Given the description of an element on the screen output the (x, y) to click on. 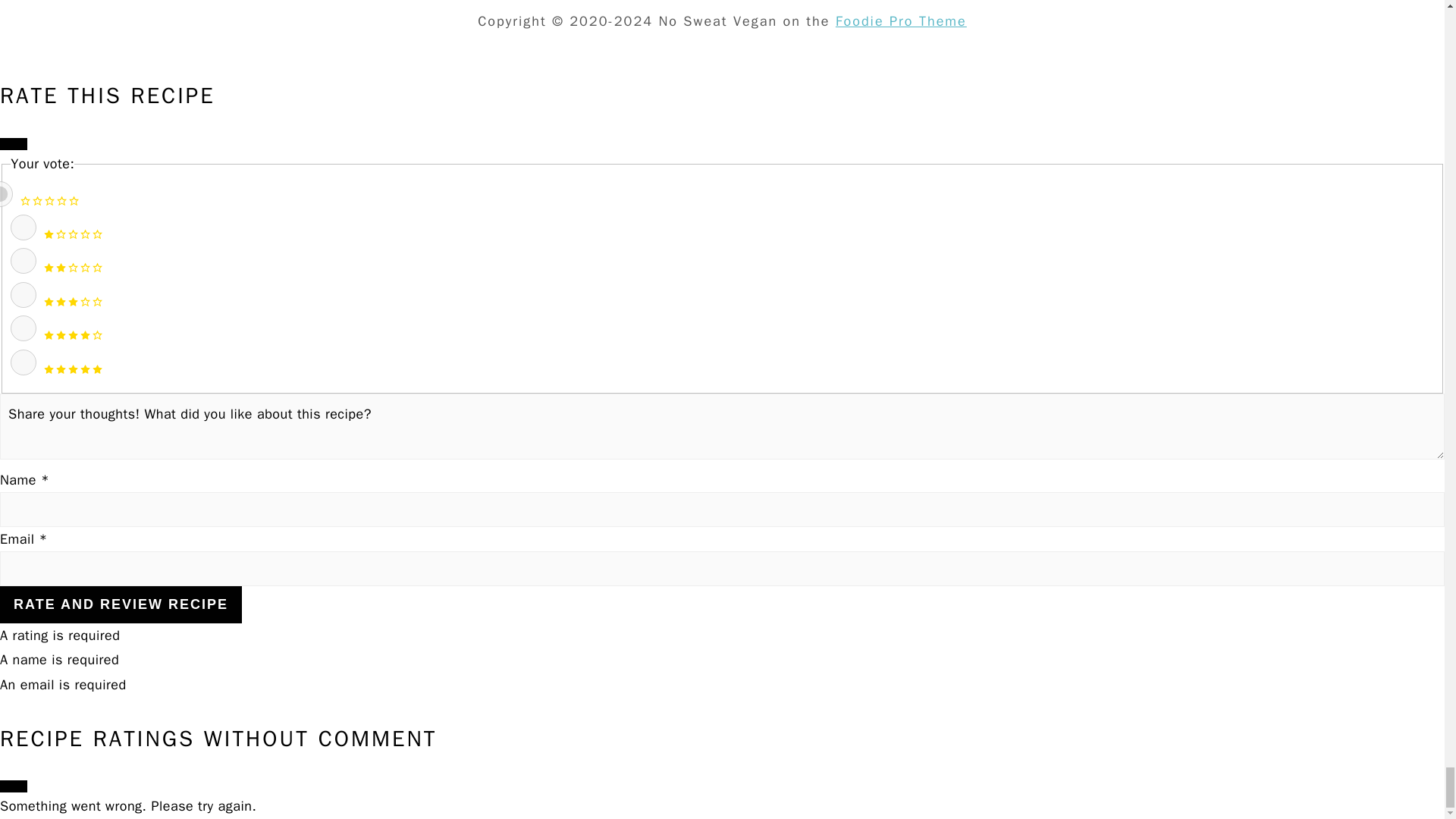
5 (23, 362)
1 (23, 227)
4 (23, 328)
3 (23, 294)
2 (23, 260)
